Given the description of an element on the screen output the (x, y) to click on. 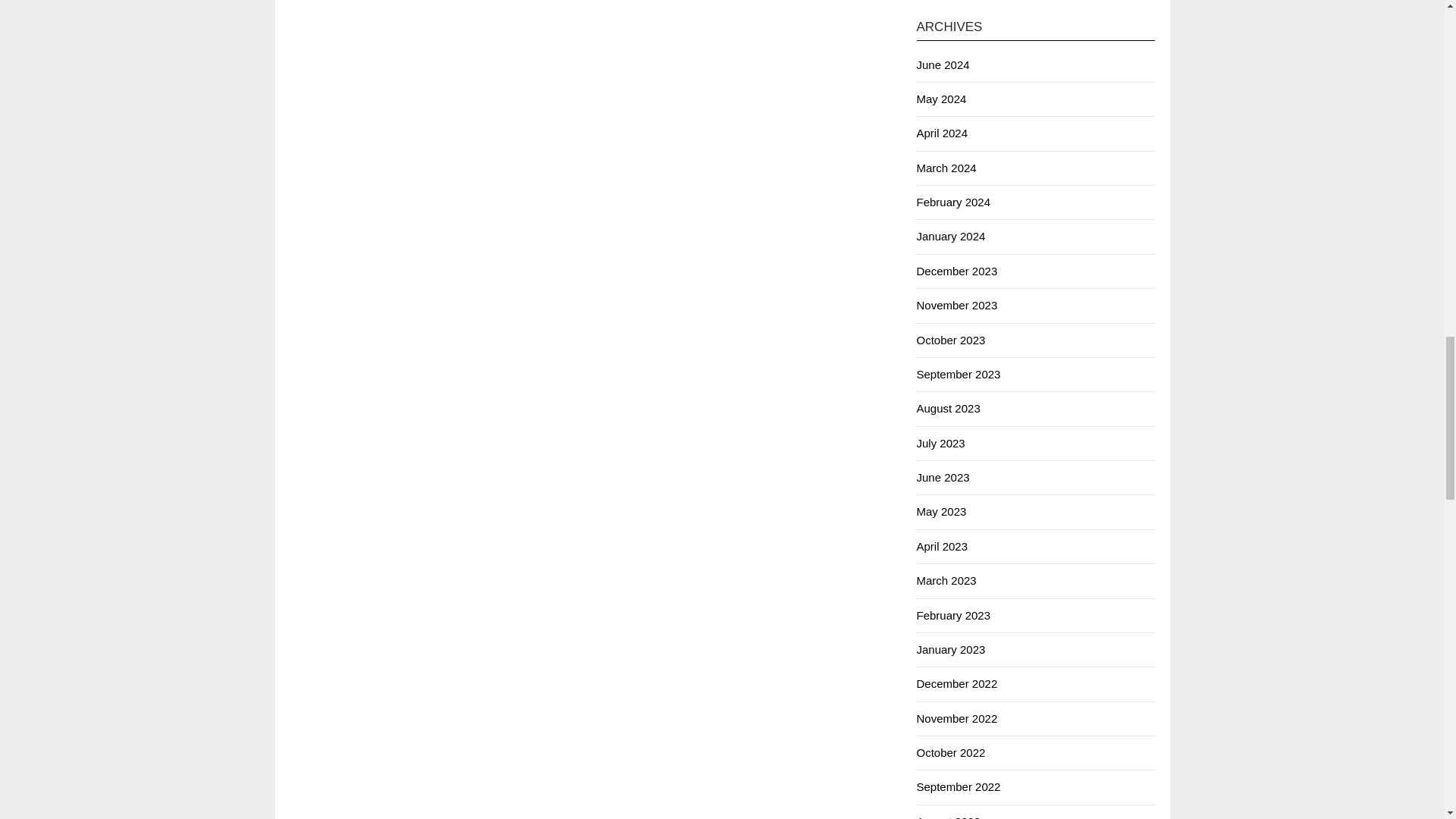
June 2023 (942, 477)
March 2024 (945, 167)
September 2023 (957, 373)
August 2023 (947, 408)
May 2024 (940, 98)
December 2023 (956, 270)
April 2024 (941, 132)
January 2024 (950, 236)
July 2023 (939, 442)
October 2023 (950, 339)
November 2023 (956, 305)
June 2024 (942, 64)
February 2024 (952, 201)
